Given the description of an element on the screen output the (x, y) to click on. 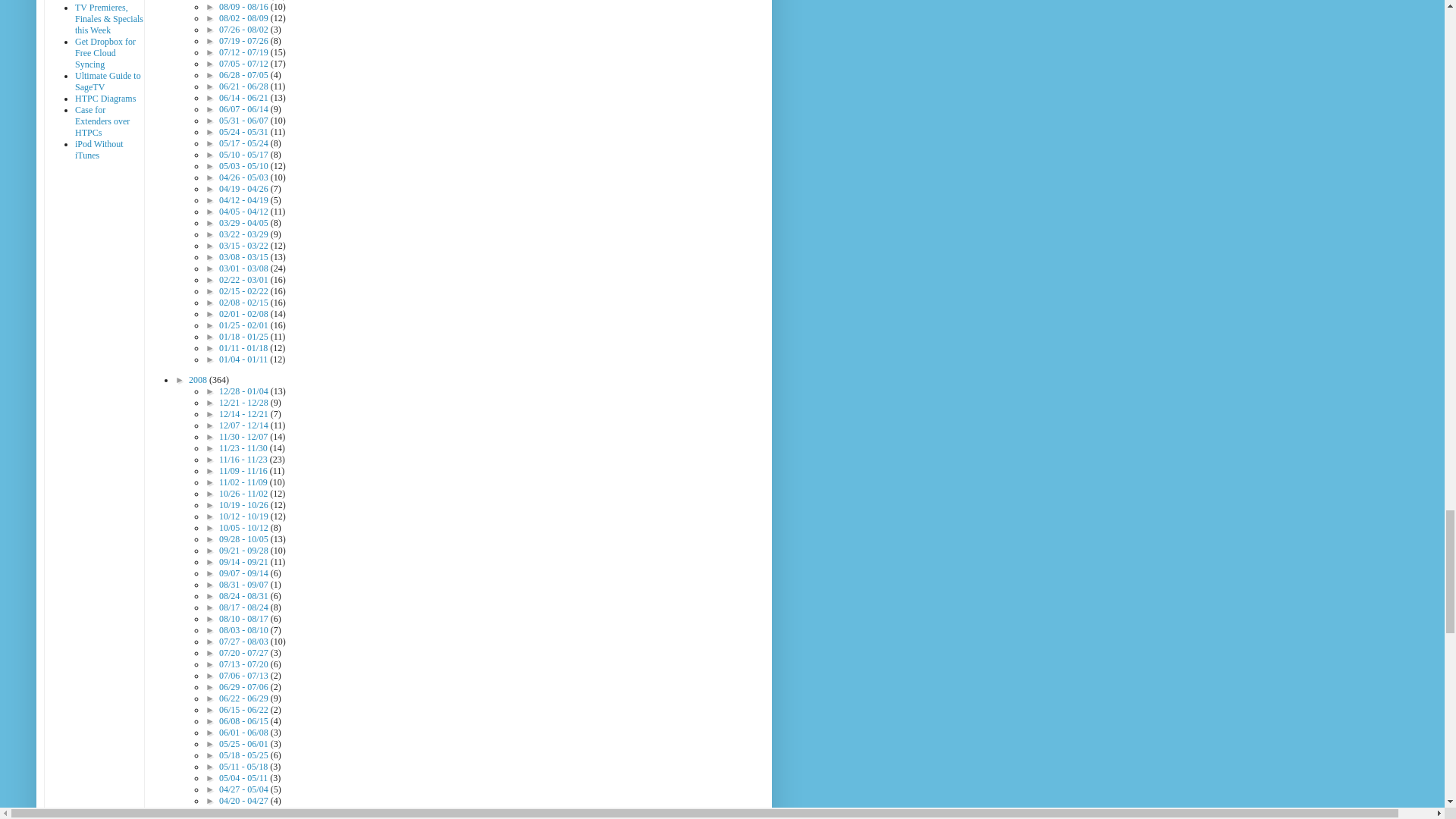
Get Dropbox for Free Cloud Syncing (105, 52)
Ultimate Guide to SageTV (108, 81)
Case for Extenders over HTPCs (102, 121)
HTPC Diagrams (105, 98)
iPod Without iTunes (99, 149)
